Given the description of an element on the screen output the (x, y) to click on. 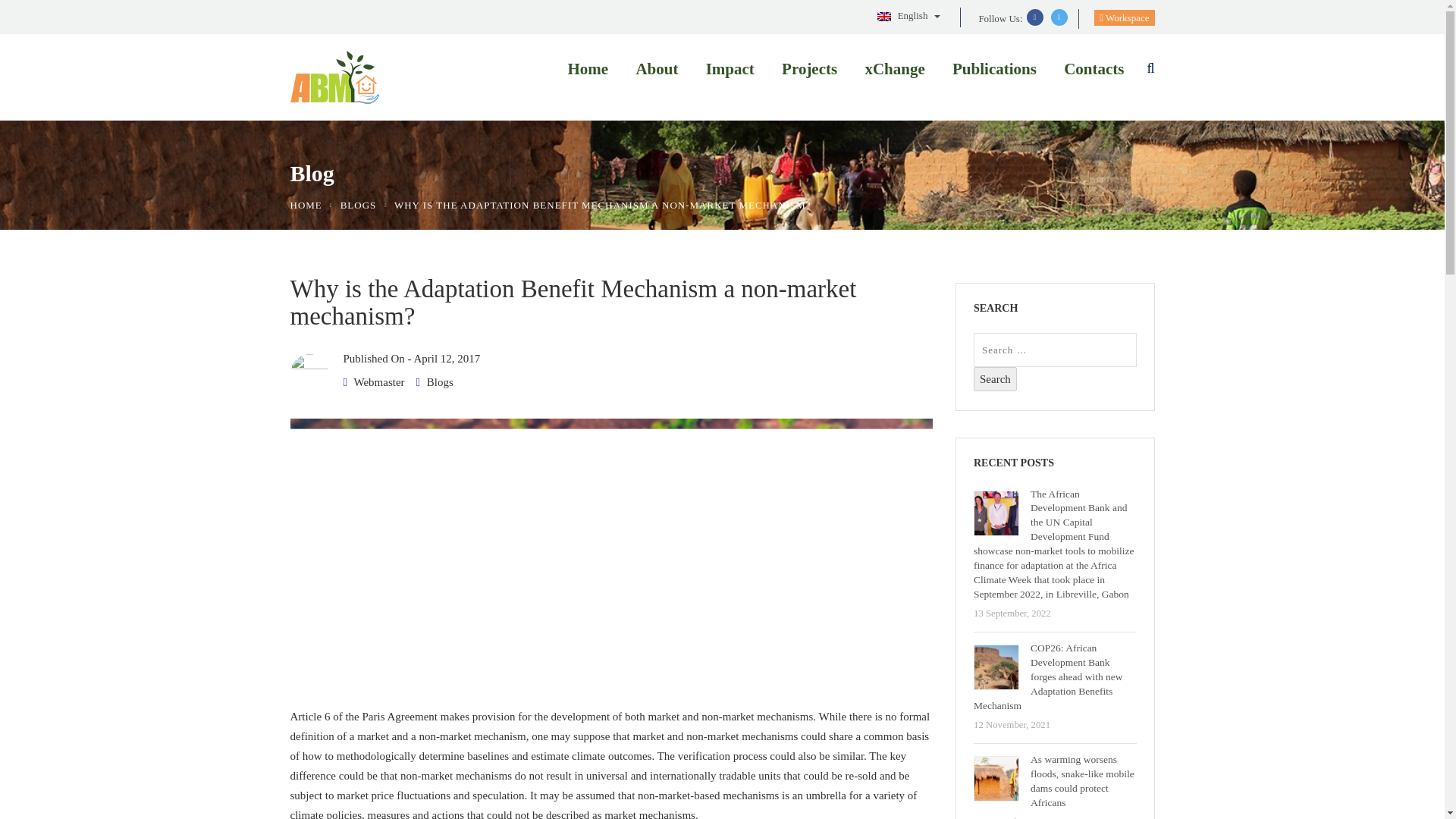
April 12, 2017 (446, 358)
Webmaster (378, 381)
xChange (890, 72)
Blogs (439, 381)
Impact (725, 72)
Home (583, 72)
Publications (989, 72)
HOME (305, 204)
Search (995, 378)
BLOGS (358, 204)
About (652, 72)
Workspace (1124, 17)
Search (995, 378)
